Given the description of an element on the screen output the (x, y) to click on. 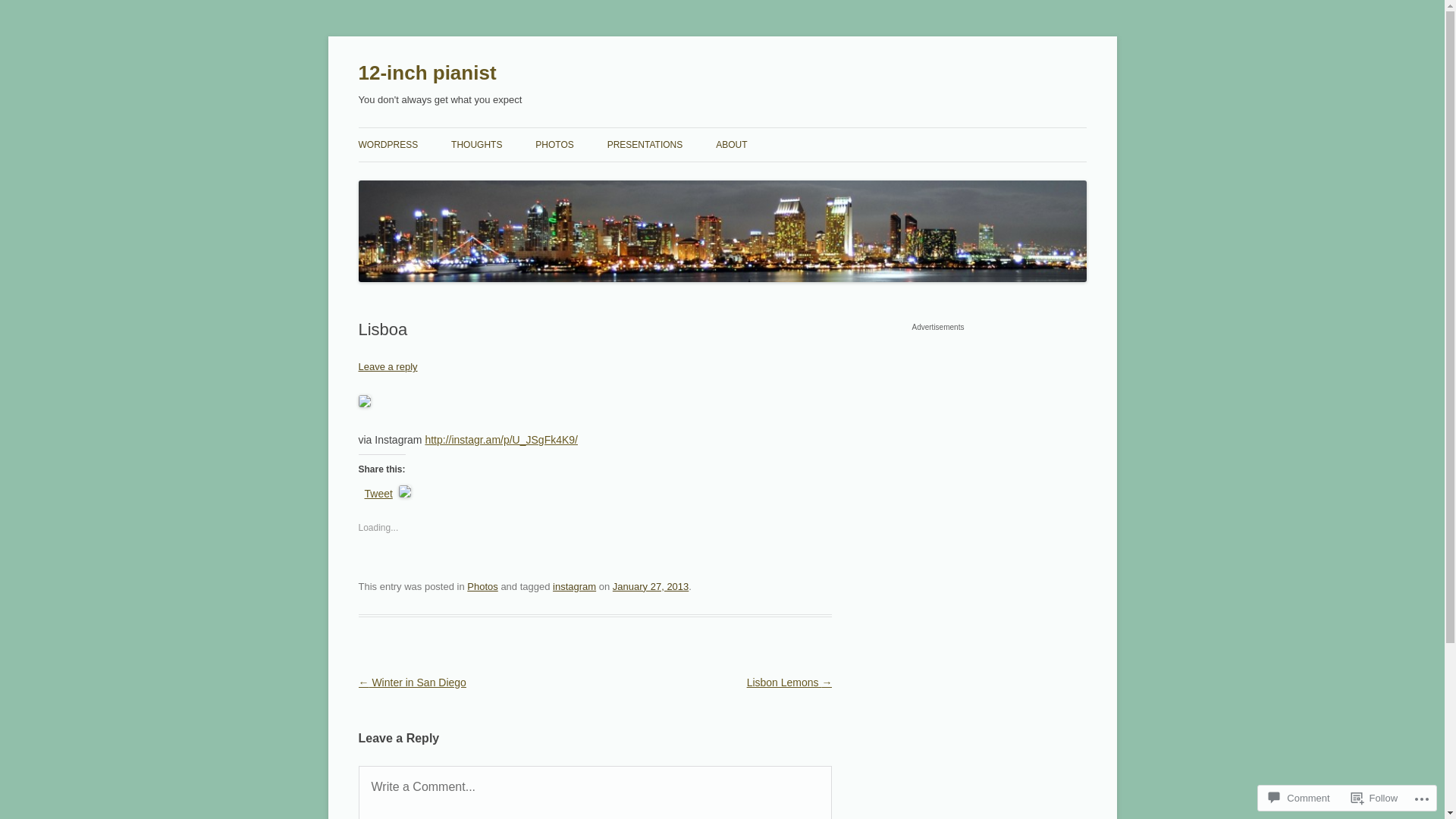
January 27, 2013 Element type: text (650, 586)
THOUGHTS Element type: text (476, 144)
ABOUT Element type: text (730, 144)
Like or Reblog Element type: hover (594, 538)
PRESENTATIONS Element type: text (645, 144)
12-inch pianist Element type: text (426, 72)
Photos Element type: text (482, 586)
Comment Element type: text (1298, 797)
Tweet Element type: text (378, 491)
PHOTOS Element type: text (554, 144)
http://instagr.am/p/U_JSgFk4K9/ Element type: text (500, 439)
Skip to content Element type: text (721, 127)
instagram Element type: text (574, 586)
Follow Element type: text (1374, 797)
WORDPRESS Element type: text (387, 144)
Leave a reply Element type: text (387, 366)
